Given the description of an element on the screen output the (x, y) to click on. 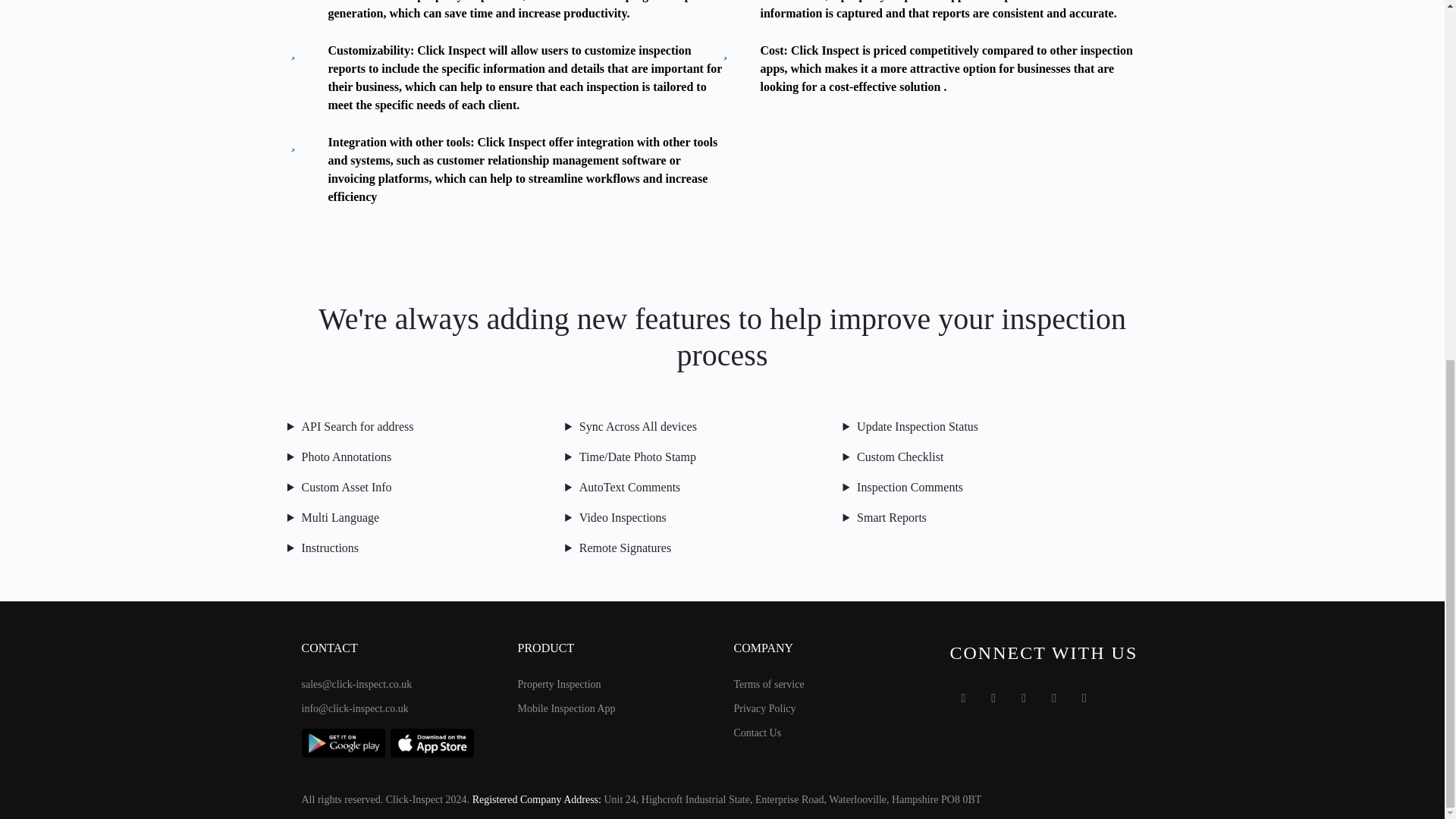
Terms of service (769, 684)
Property Inspection (557, 684)
Mobile Inspection App (565, 708)
Contact Us (757, 732)
Privacy Policy (764, 708)
CONTACT (398, 655)
